Given the description of an element on the screen output the (x, y) to click on. 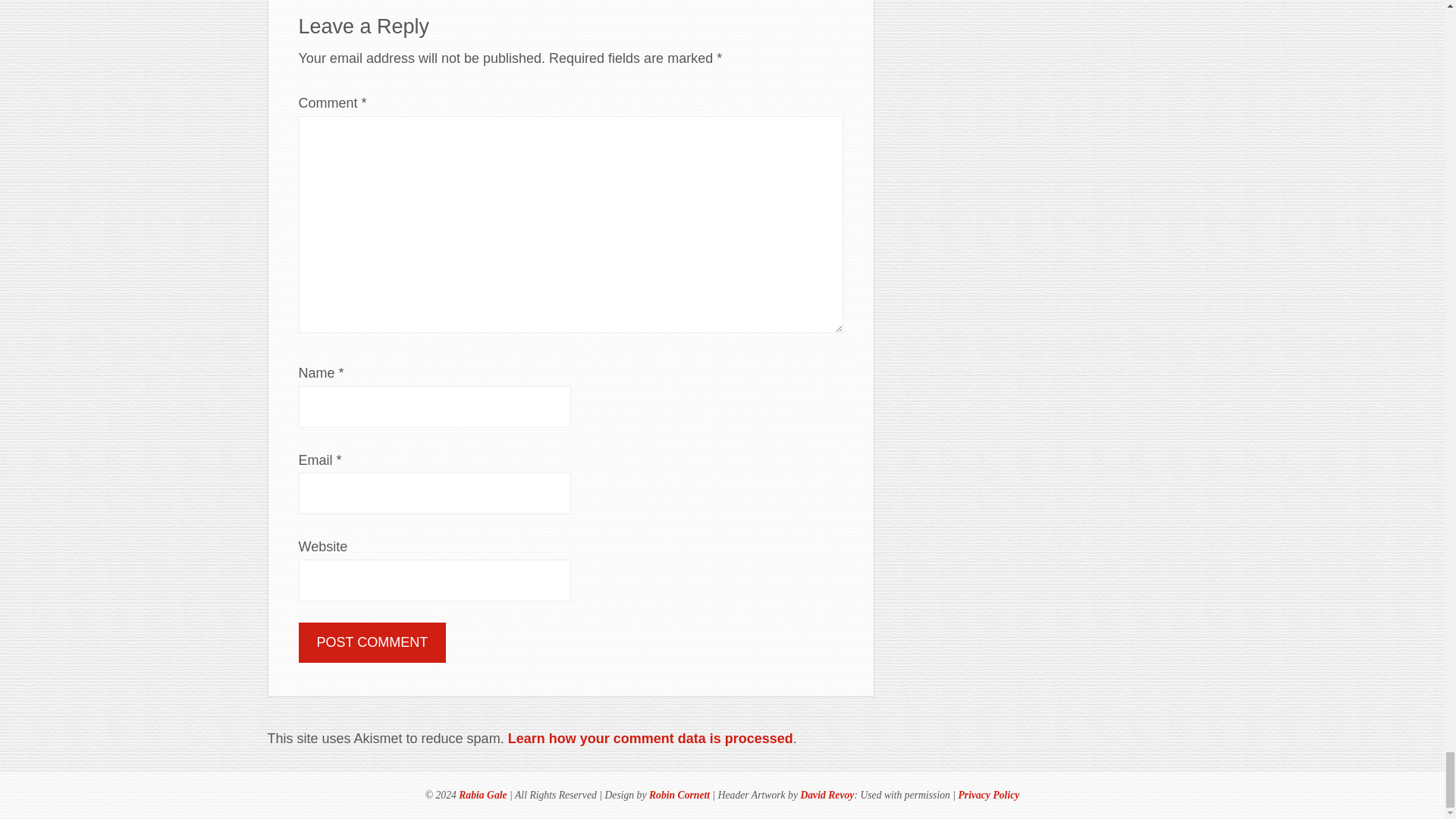
Post Comment (372, 642)
